Given the description of an element on the screen output the (x, y) to click on. 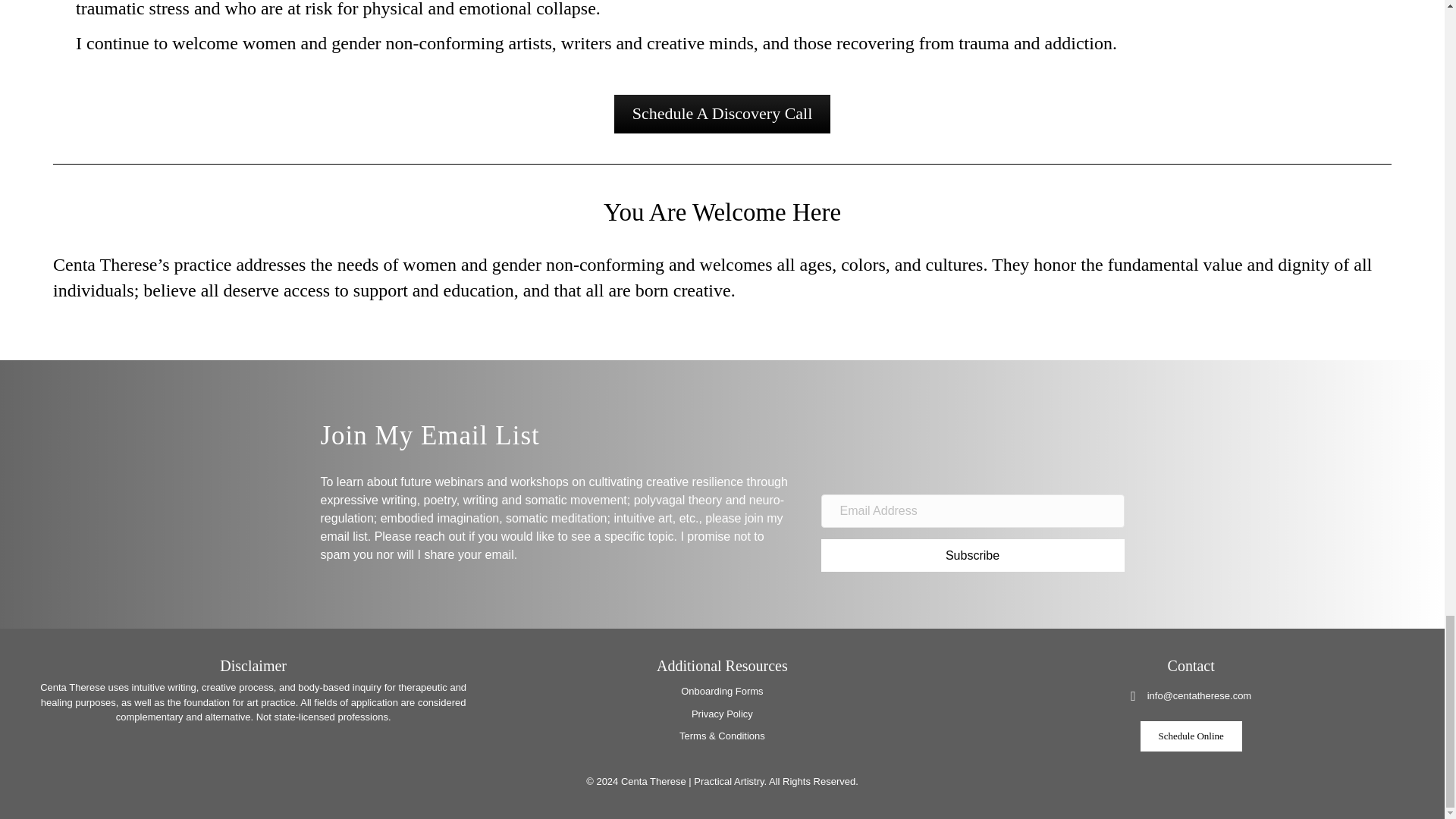
Subscribe (972, 554)
Schedule Online (1190, 736)
Privacy Policy (721, 713)
Schedule A Discovery Call (722, 113)
Onboarding Forms (721, 690)
